Given the description of an element on the screen output the (x, y) to click on. 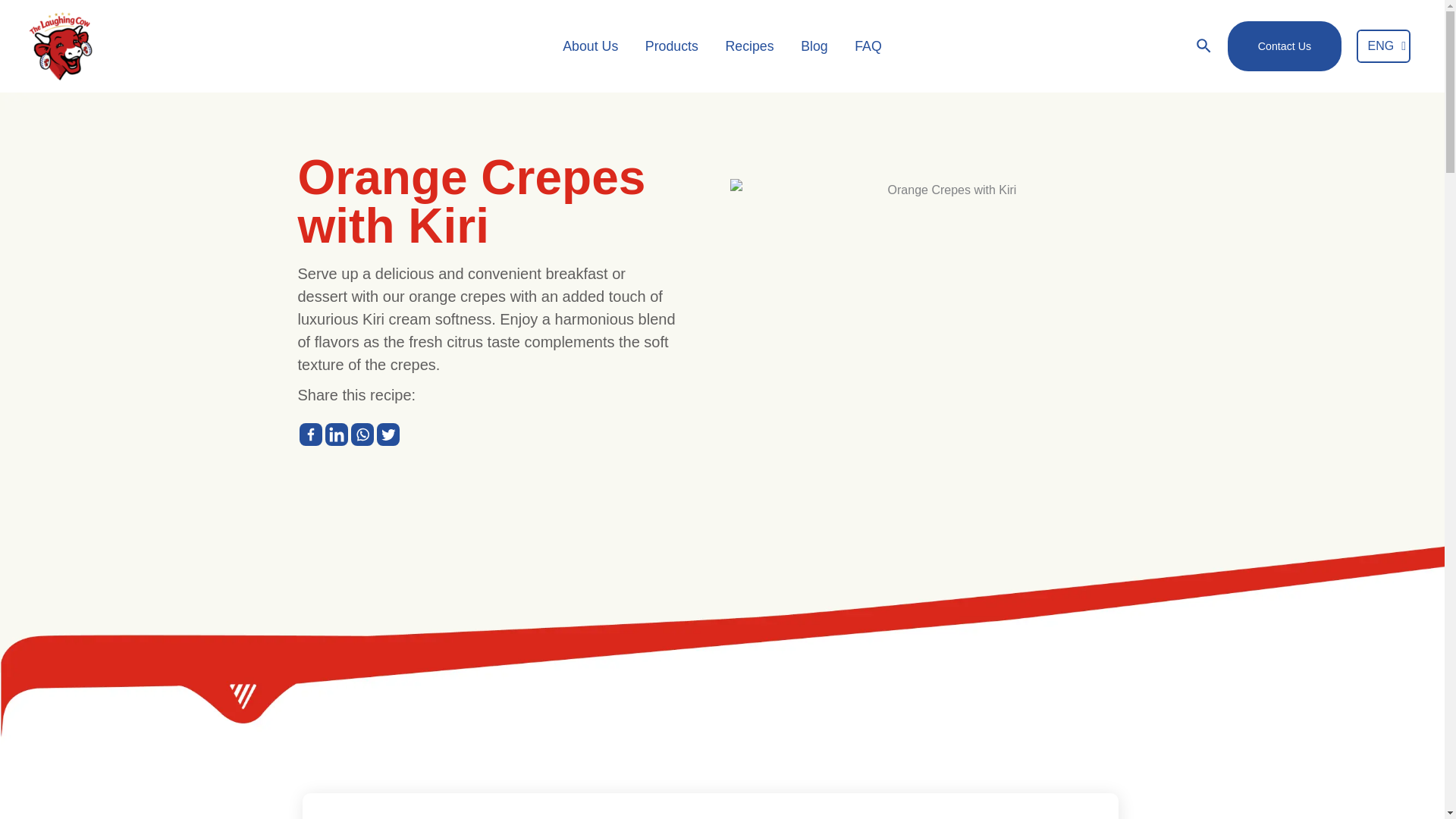
ENG (1382, 46)
Contact Us (1283, 46)
Whatsapp (361, 434)
Twitter (386, 434)
Recipes (749, 45)
Facebook (309, 434)
About Us (589, 45)
Linkedin (335, 434)
Products (671, 45)
